Given the description of an element on the screen output the (x, y) to click on. 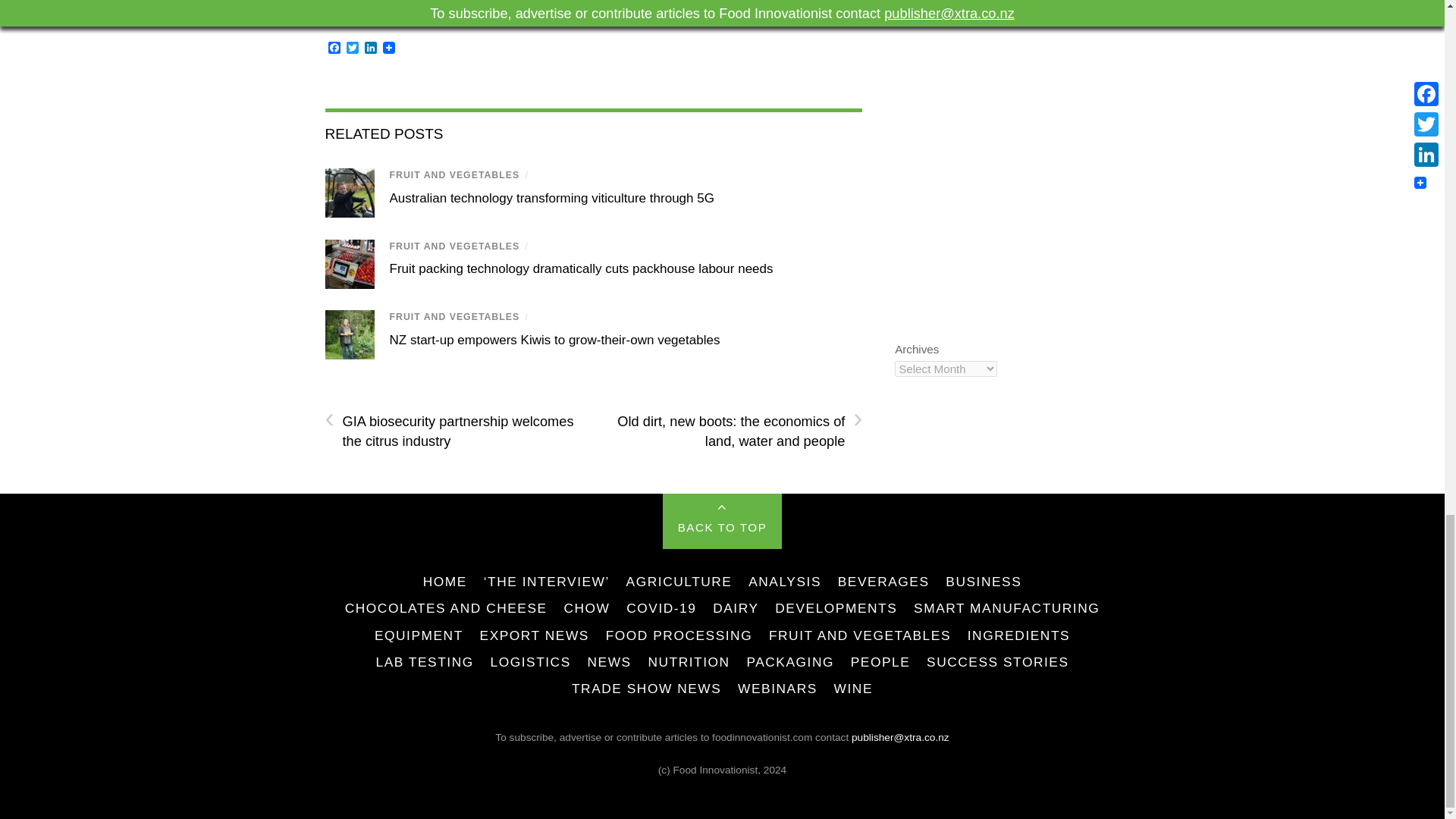
LinkedIn (369, 48)
Australian technology transforming viticulture through 5G (552, 197)
Fruit-packing-PIC (349, 264)
Australian technology (349, 192)
Fliss-Roberts-founder-of-PlantMe-with-seed-envelopes-NZF (349, 334)
Twitter (351, 48)
Facebook (333, 48)
